Given the description of an element on the screen output the (x, y) to click on. 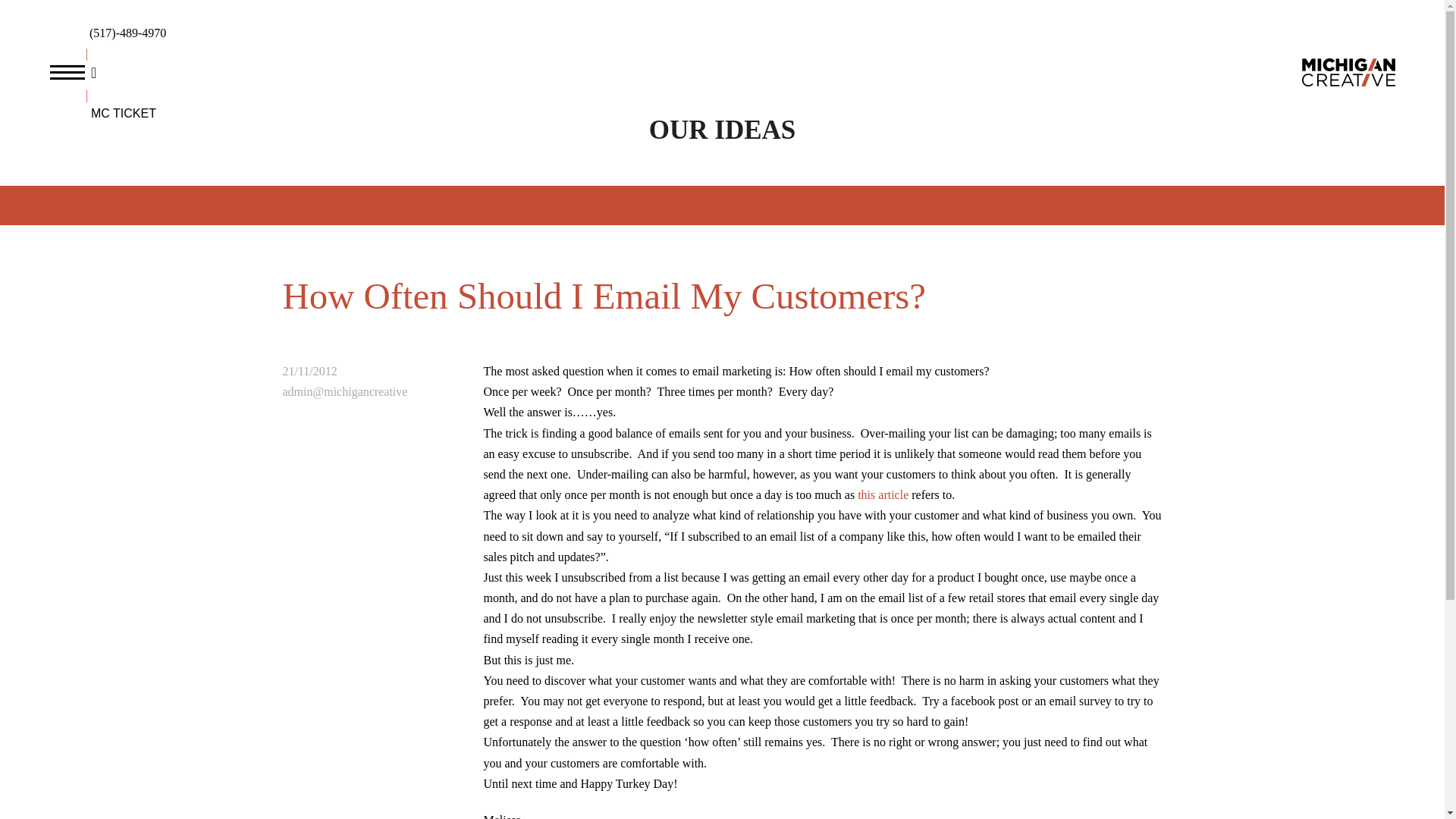
this article (882, 494)
MC TICKET (130, 113)
